Given the description of an element on the screen output the (x, y) to click on. 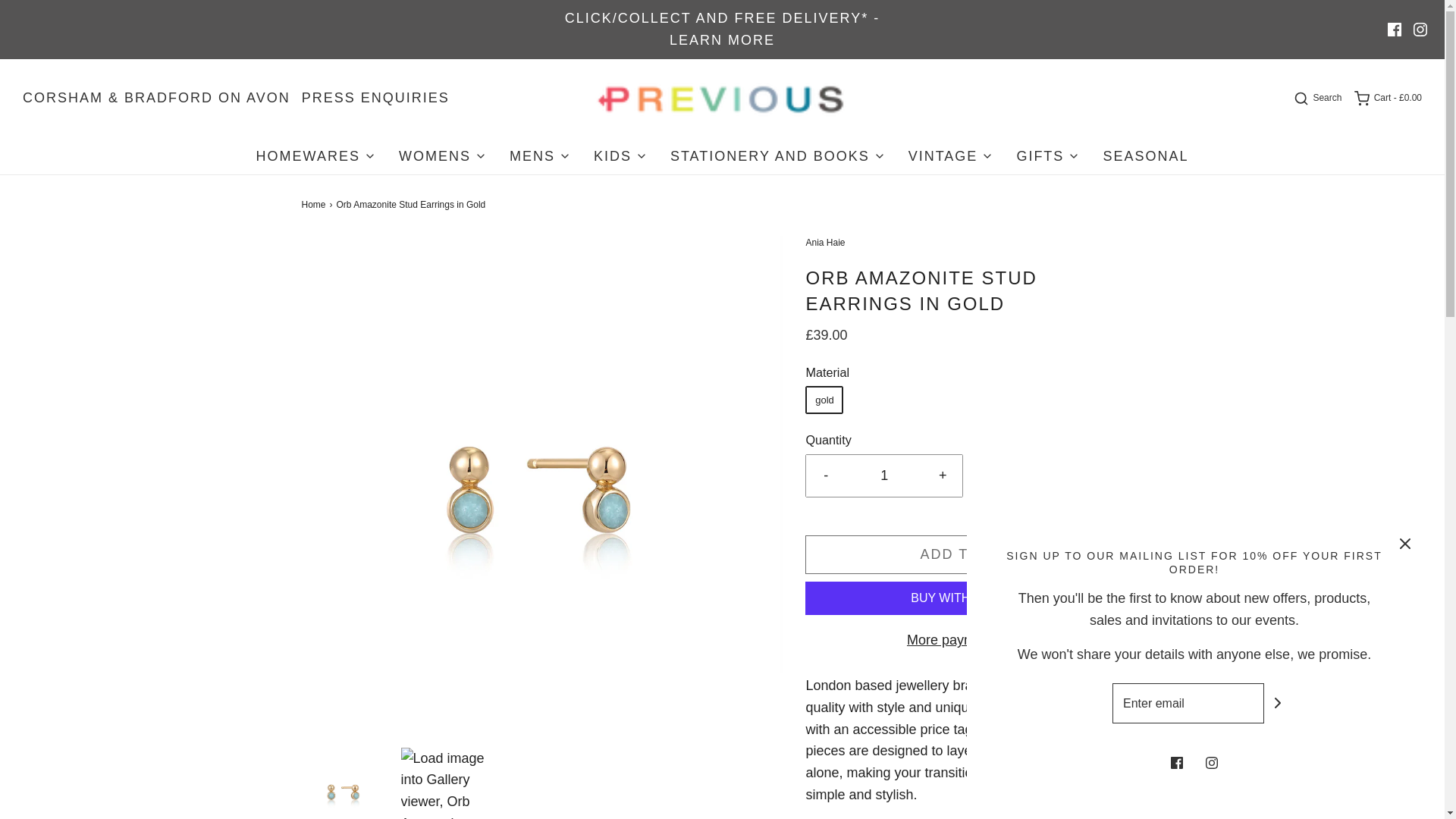
Search (1316, 98)
FACEBOOK ICON (1393, 29)
WOMENS (442, 156)
Cart (1387, 98)
PRESS ENQUIRIES (375, 97)
INSTAGRAM ICON (1419, 29)
Back to the frontpage (315, 205)
HOMEWARES (315, 156)
FACEBOOK ICON (1393, 29)
Search (1316, 98)
1 (884, 475)
INSTAGRAM ICON (1419, 29)
